Given the description of an element on the screen output the (x, y) to click on. 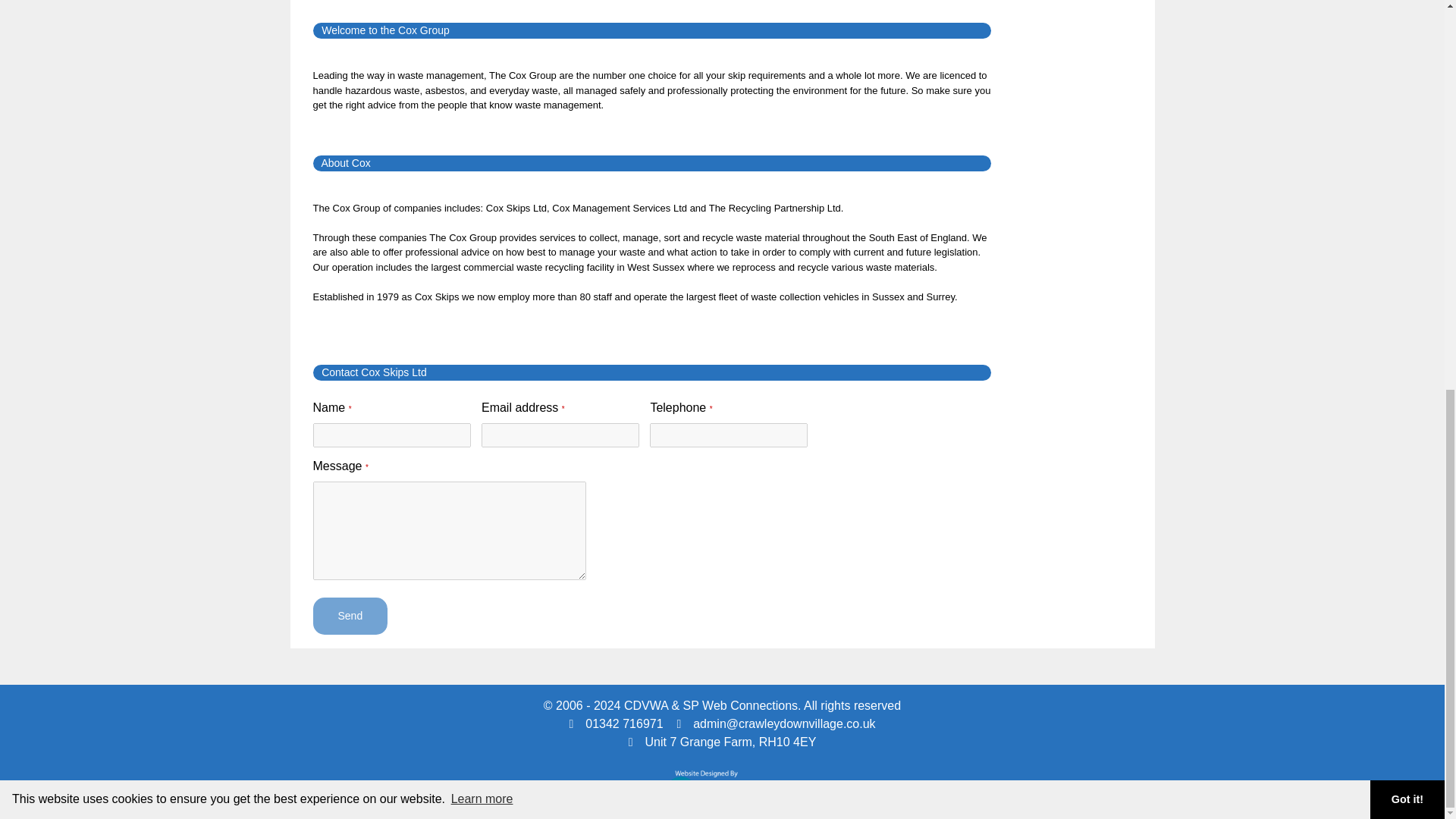
Learn more (481, 57)
01342 716971 (615, 723)
Send (350, 615)
Unit 7 Grange Farm, RH10 4EY (722, 741)
